Given the description of an element on the screen output the (x, y) to click on. 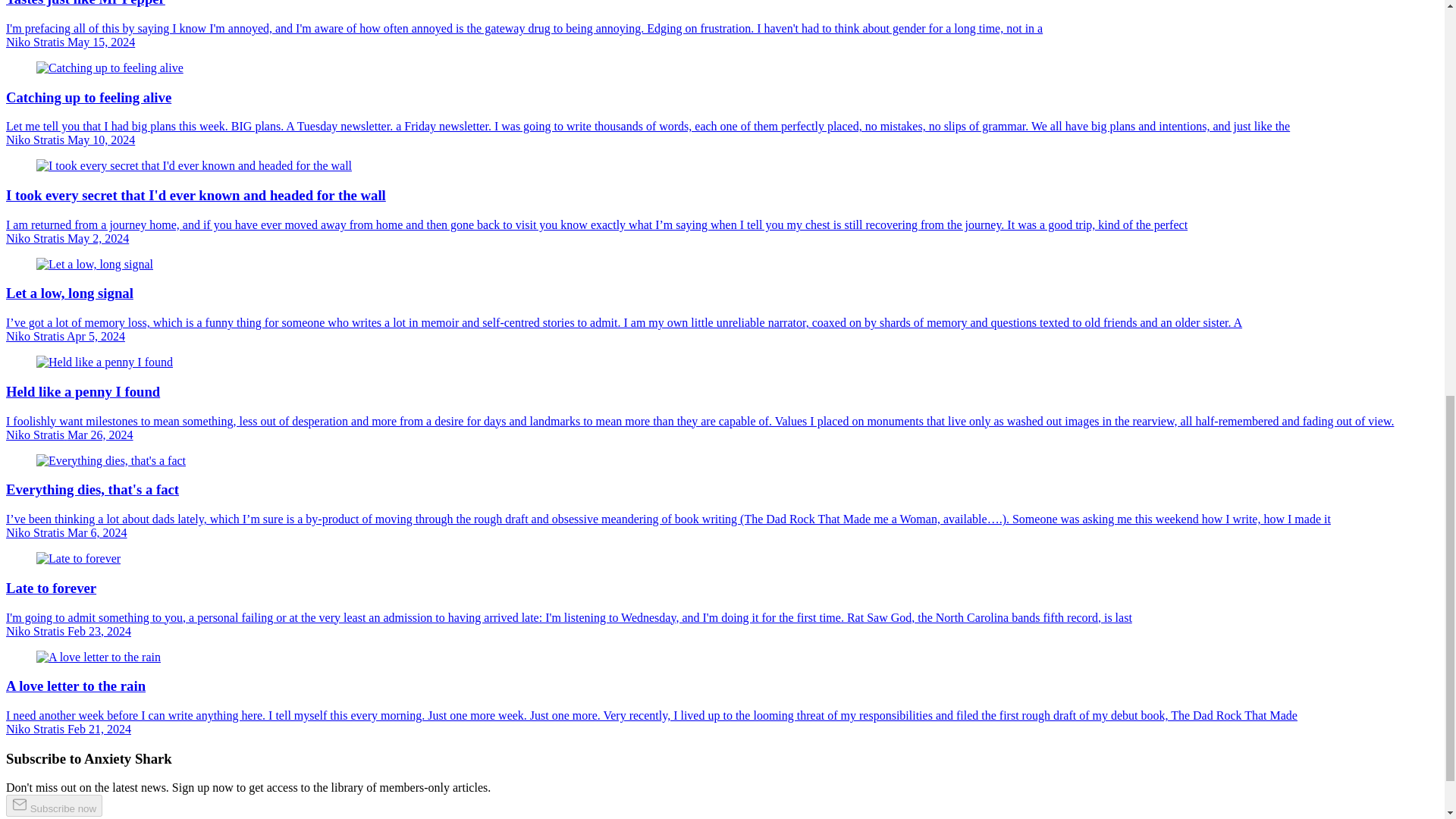
Subscribe now (53, 805)
